Given the description of an element on the screen output the (x, y) to click on. 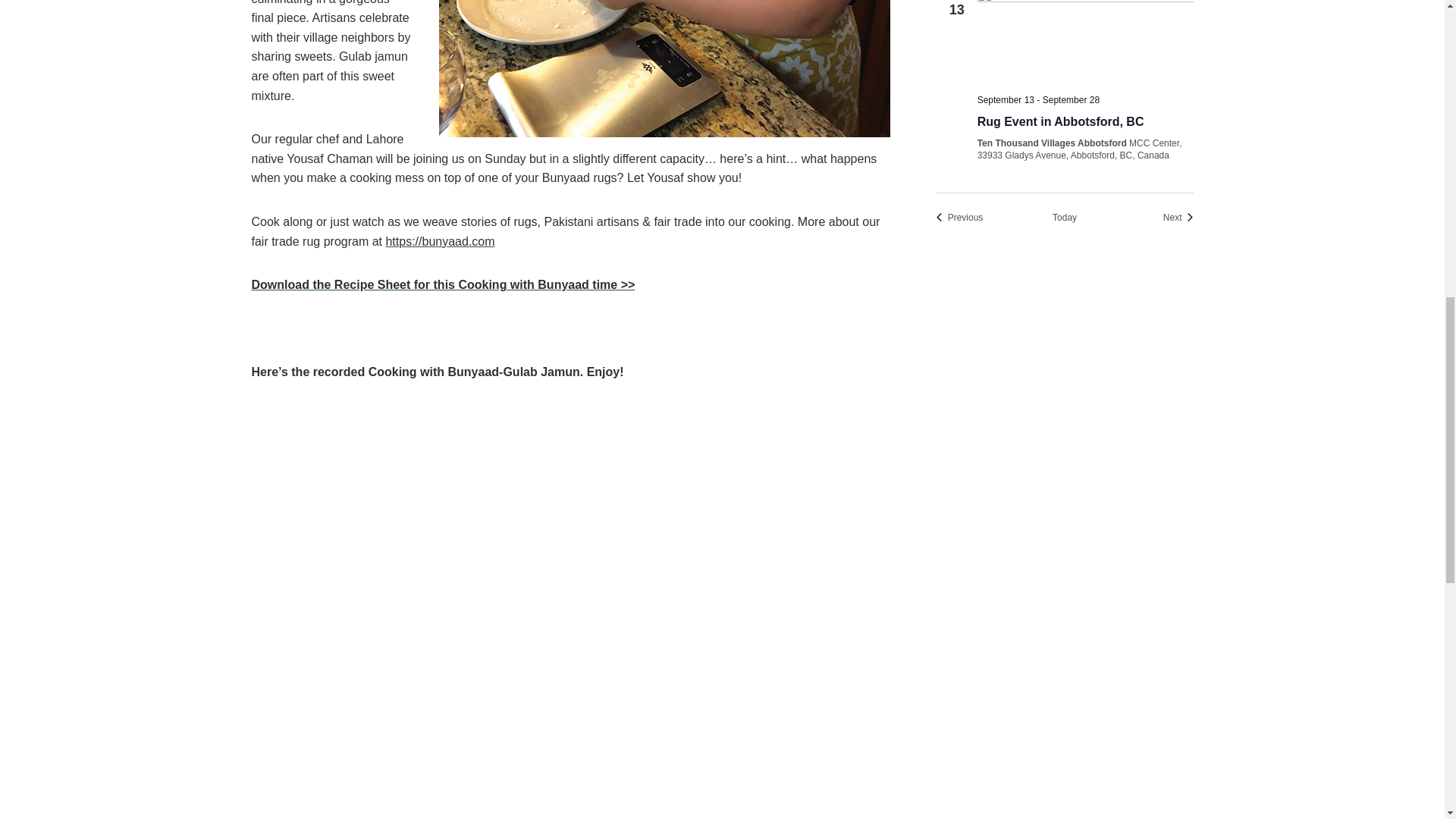
Rug Event in Abbotsford, BC (1060, 121)
Previous Events (960, 217)
Rug Event in Abbotsford, BC (1084, 40)
